Given the description of an element on the screen output the (x, y) to click on. 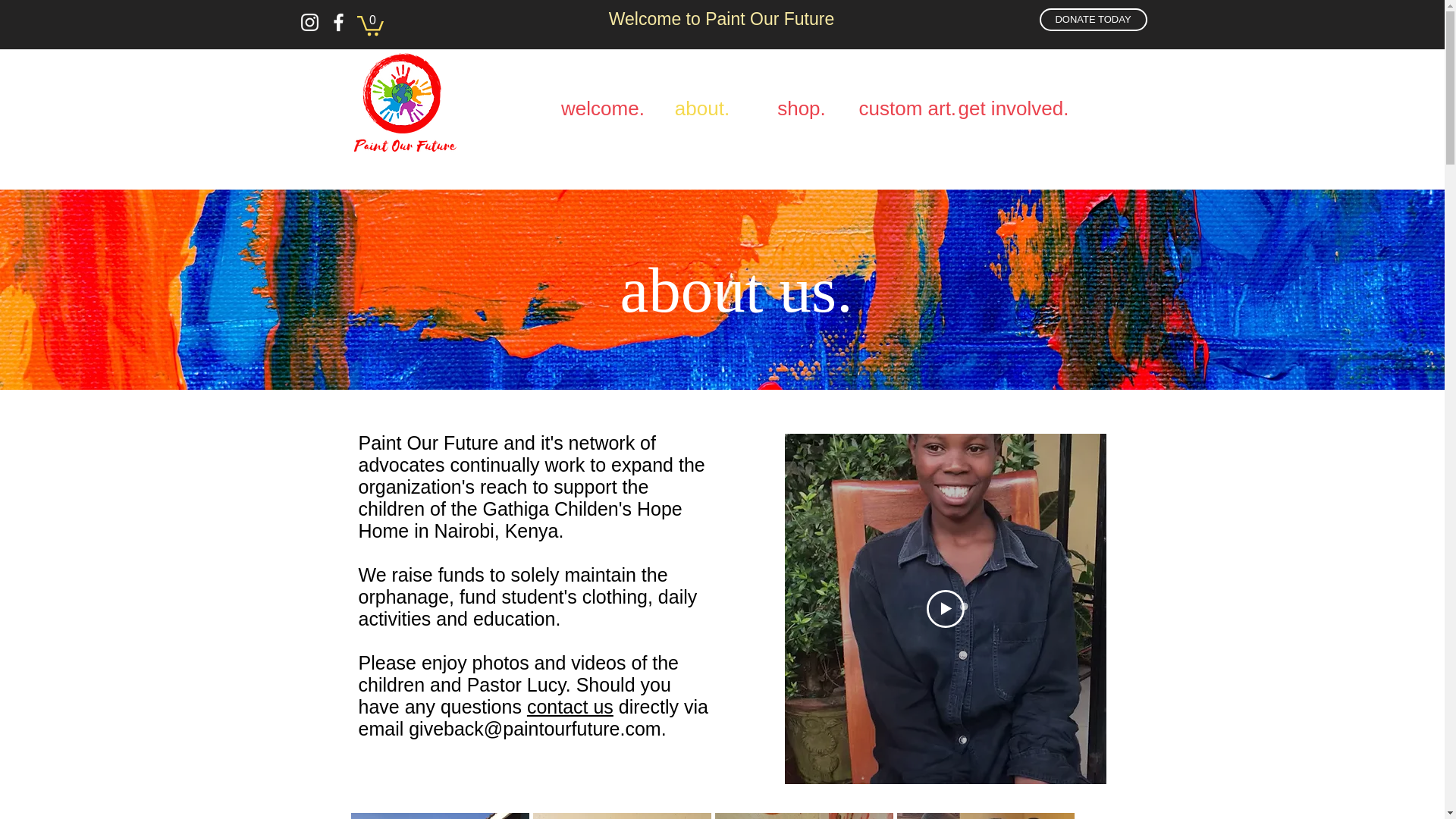
DONATE TODAY (1093, 19)
0 (369, 24)
custom art. (900, 106)
shop. (801, 106)
about. (701, 106)
contact us (569, 706)
welcome. (602, 106)
0 (369, 24)
get involved. (999, 106)
